Given the description of an element on the screen output the (x, y) to click on. 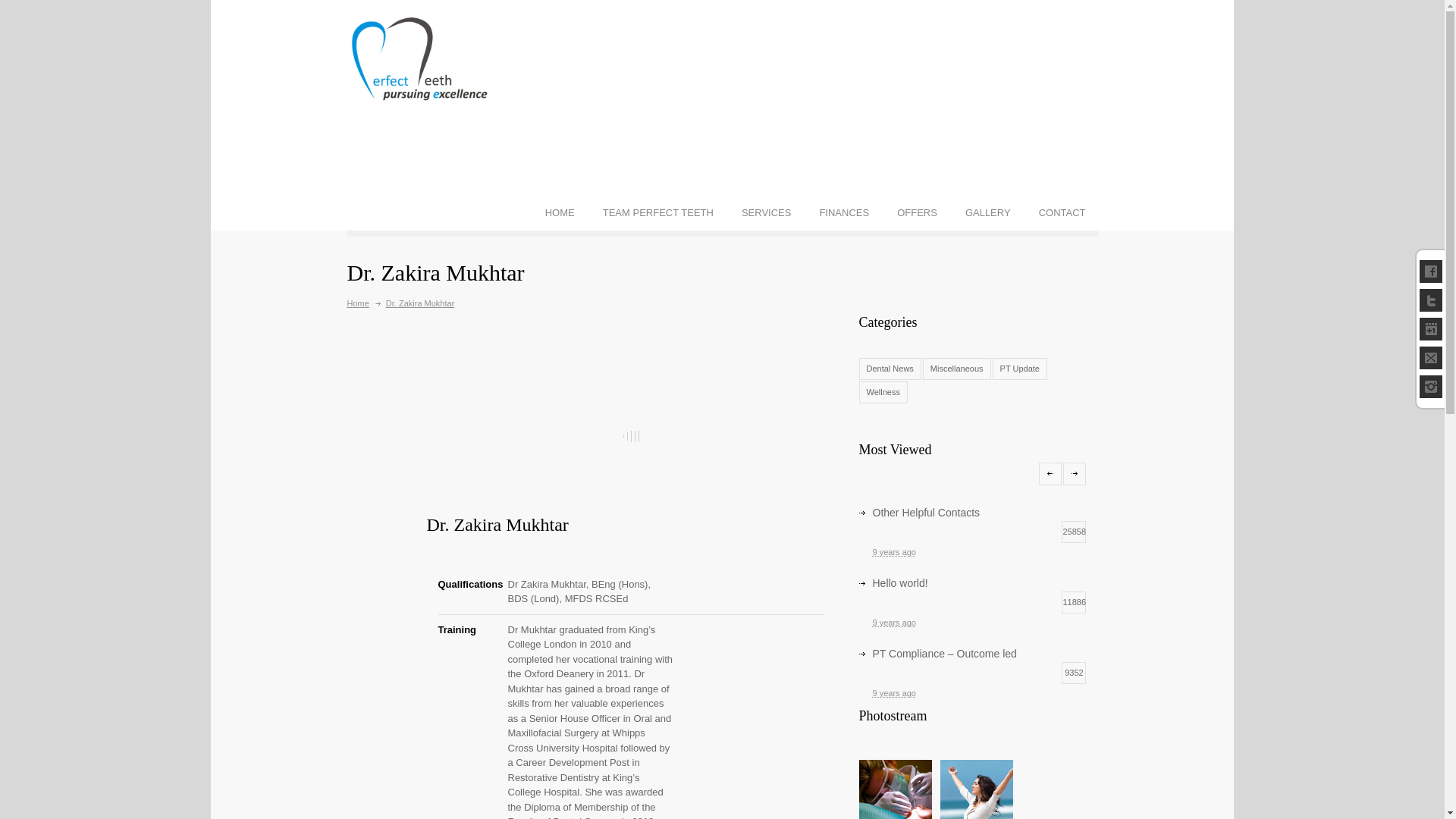
SERVICES (766, 212)
Home (358, 302)
FINANCES (843, 212)
Dr. Zakira Mukhtar (496, 524)
Dr. Zakira Mukhtar (630, 436)
HOME (559, 212)
Home (358, 302)
OFFERS (917, 212)
TEAM PERFECT TEETH (658, 212)
